Given the description of an element on the screen output the (x, y) to click on. 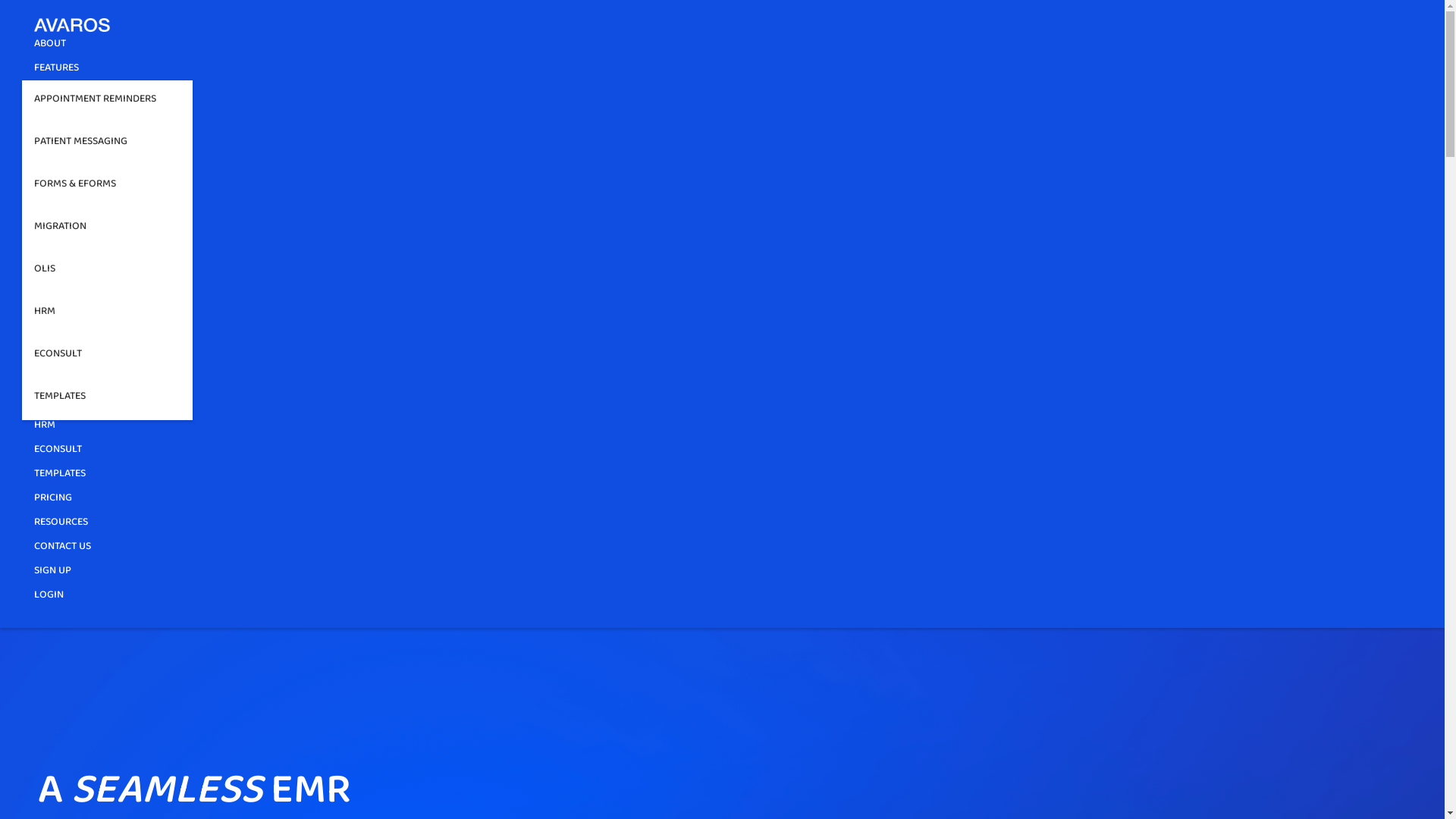
MIGRATION Element type: text (60, 379)
SIGN UP Element type: text (52, 573)
CONTACT US Element type: text (710, 143)
APPOINTMENT REMINDERS Element type: text (95, 306)
SIGN UP Element type: text (67, 169)
FORMS & EFORMS Element type: text (106, 186)
PATIENT MESSAGING Element type: text (80, 330)
TEMPLATES Element type: text (106, 398)
MIGRATION Element type: text (106, 228)
PATIENT MESSAGING Element type: text (106, 143)
RESOURCES Element type: text (60, 118)
LOGIN Element type: text (48, 597)
FEATURES Element type: text (56, 70)
RESOURCES Element type: text (60, 524)
ABOUT Element type: text (49, 46)
SIGN UP Element type: text (67, 172)
ECONSULT Element type: text (106, 356)
PRICING Element type: text (53, 500)
OLIS Element type: text (106, 271)
HRM Element type: text (44, 427)
ABOUT Element type: text (49, 251)
LOGIN Element type: text (62, 204)
menu Element type: text (49, 227)
ECONSULT Element type: text (57, 451)
PRICING Element type: text (53, 94)
LOGIN Element type: text (62, 200)
TEMPLATES Element type: text (59, 476)
FORMS & EFORMS Element type: text (75, 354)
CONTACT US Element type: text (710, 548)
HRM Element type: text (106, 313)
APPOINTMENT REMINDERS Element type: text (106, 101)
OLIS Element type: text (44, 403)
